Given the description of an element on the screen output the (x, y) to click on. 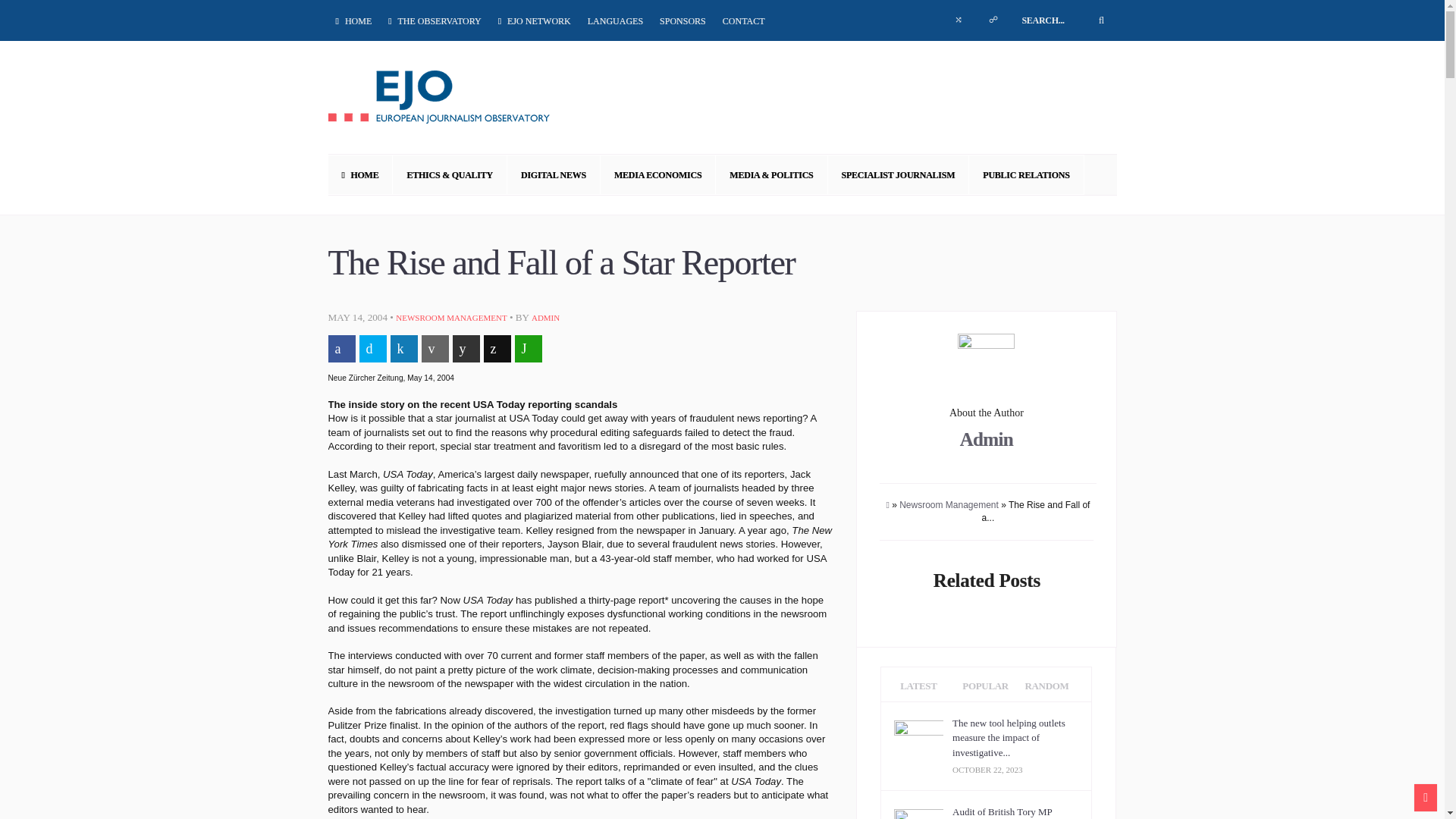
HOME (354, 20)
Posts by admin (545, 317)
EJO NETWORK (534, 20)
MEDIA ECONOMICS (657, 174)
CONTACT (743, 20)
Search... (1063, 20)
SPONSORS (682, 20)
THE OBSERVATORY (434, 20)
LANGUAGES (615, 20)
HOME (360, 174)
